Given the description of an element on the screen output the (x, y) to click on. 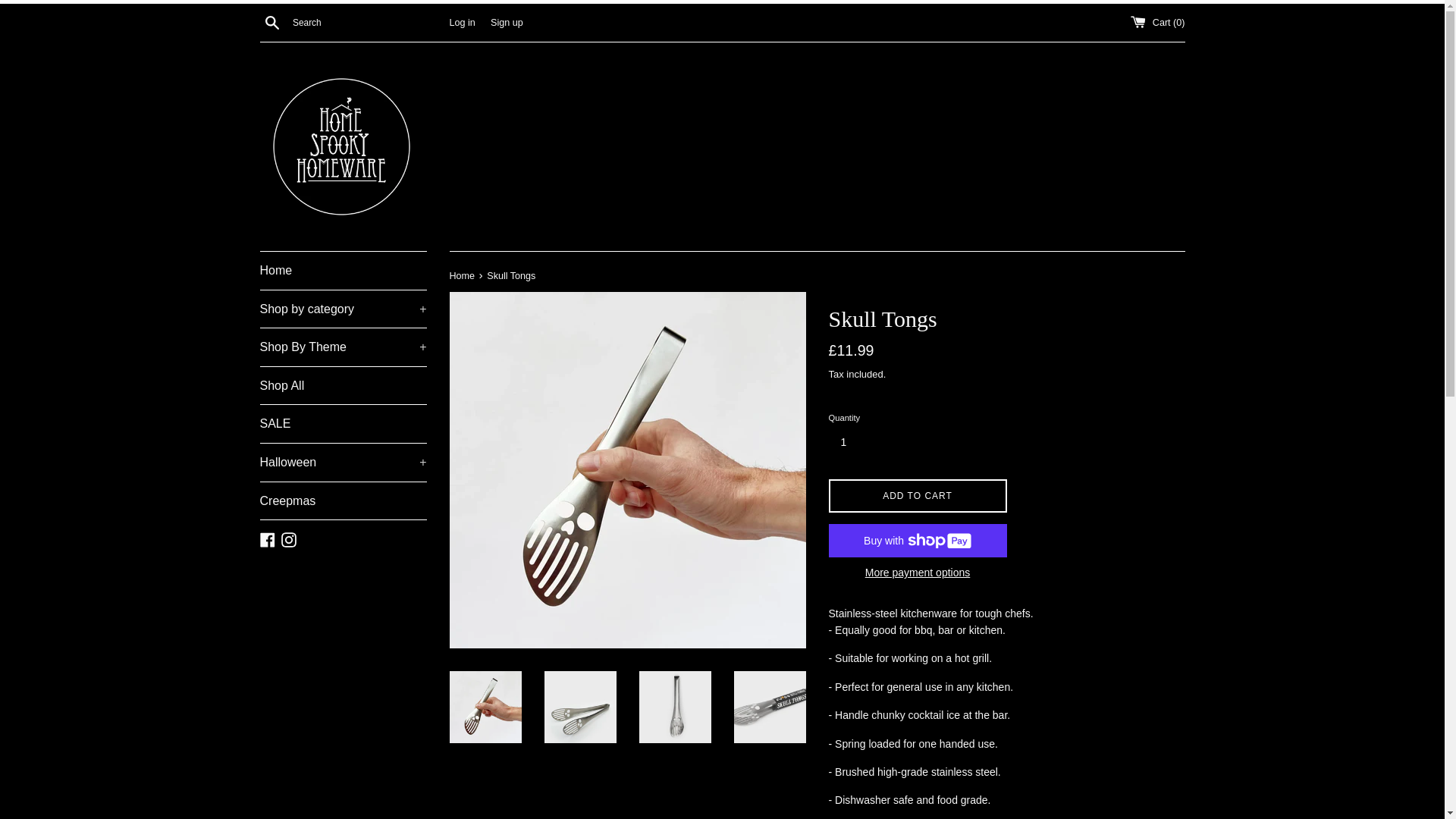
Home Spooky Homeware on Facebook (267, 539)
Search (271, 21)
Back to the frontpage (462, 276)
Home (342, 270)
Log in (461, 21)
Shop All (342, 385)
Sign up (506, 21)
Home Spooky Homeware on Instagram (289, 539)
1 (848, 441)
